Given the description of an element on the screen output the (x, y) to click on. 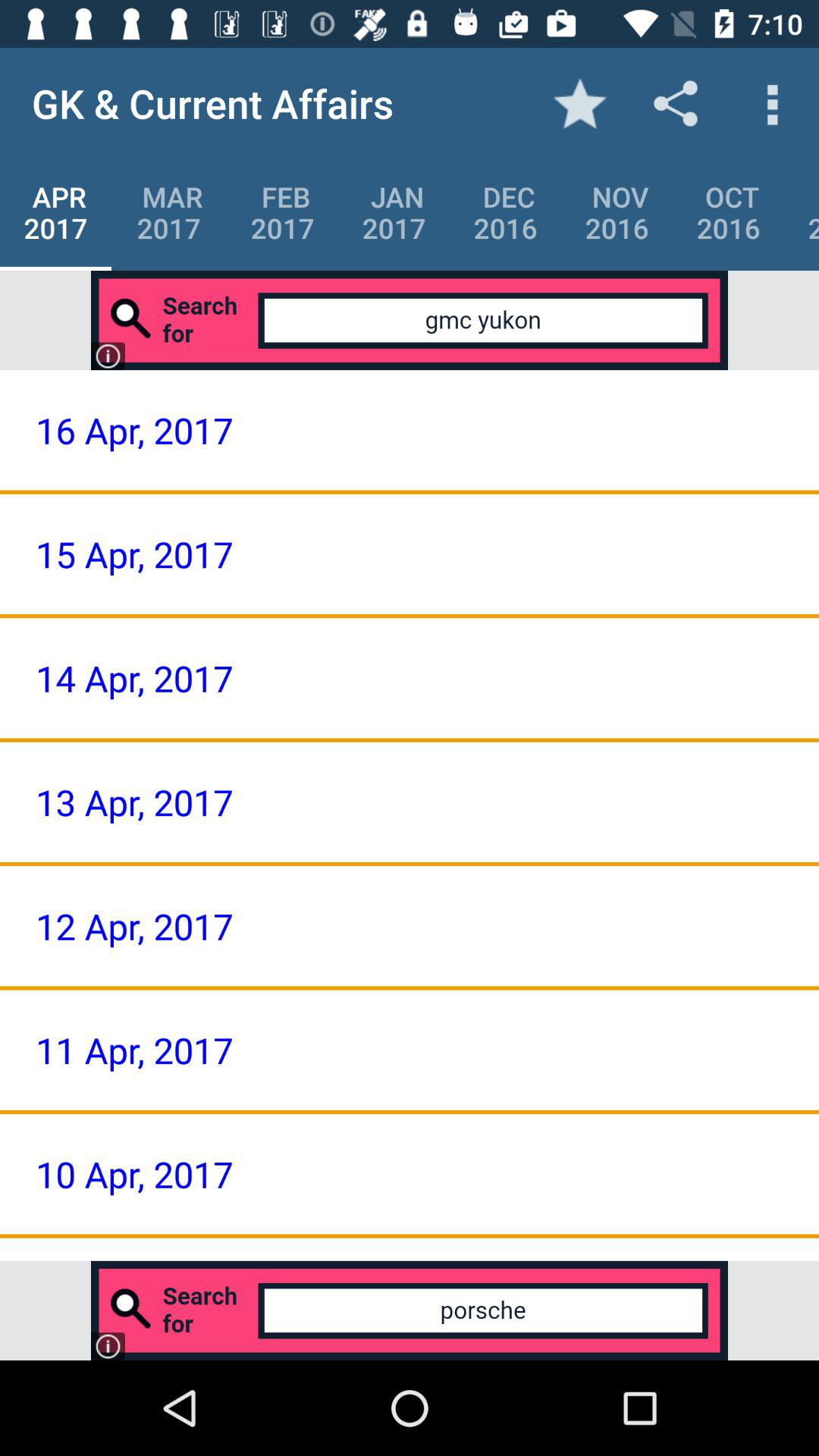
click oct
2016 (728, 212)
